Given the description of an element on the screen output the (x, y) to click on. 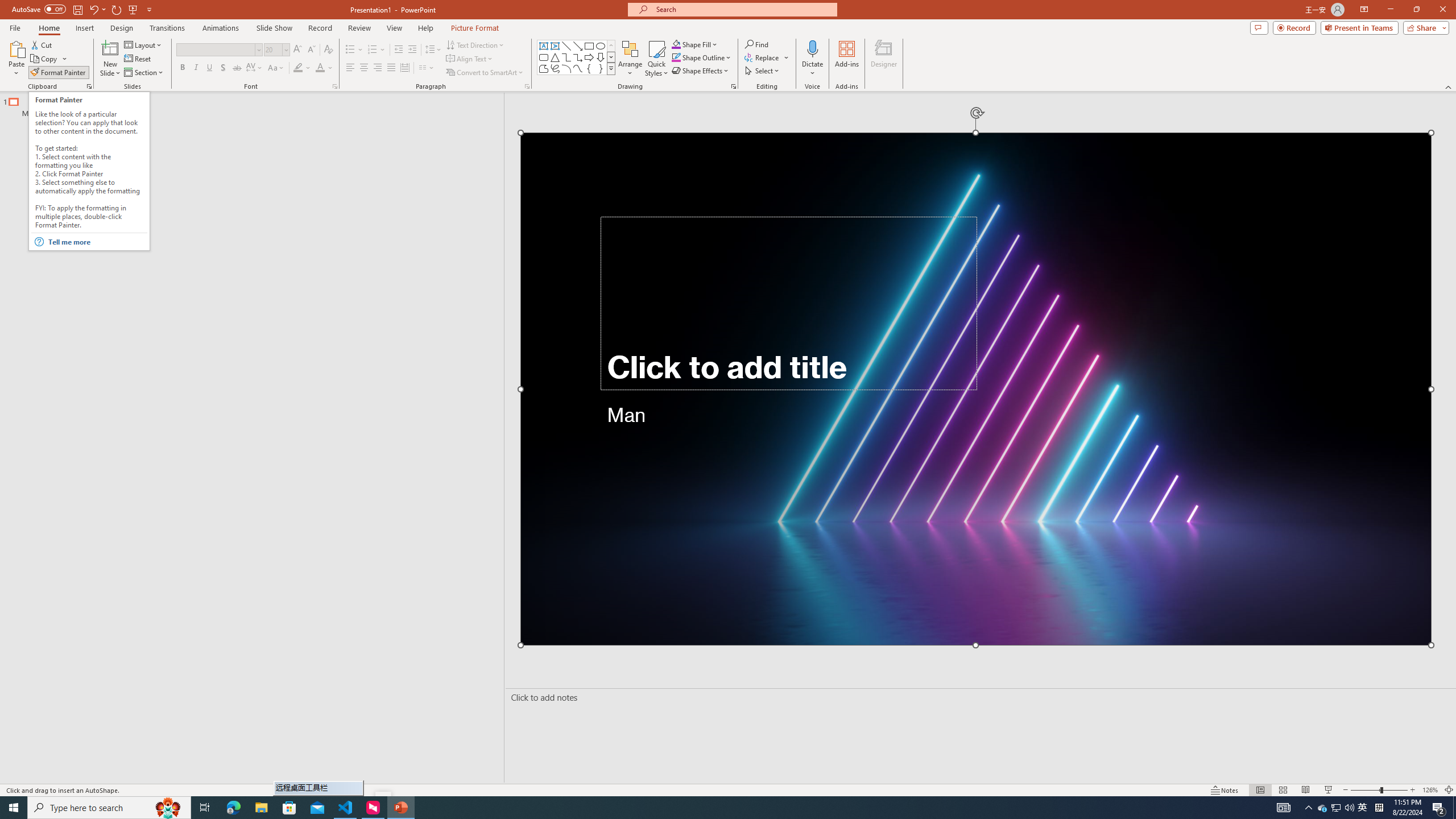
Outline (256, 104)
Oval (600, 45)
Align Text (470, 58)
Underline (209, 67)
Align Right (377, 67)
